Given the description of an element on the screen output the (x, y) to click on. 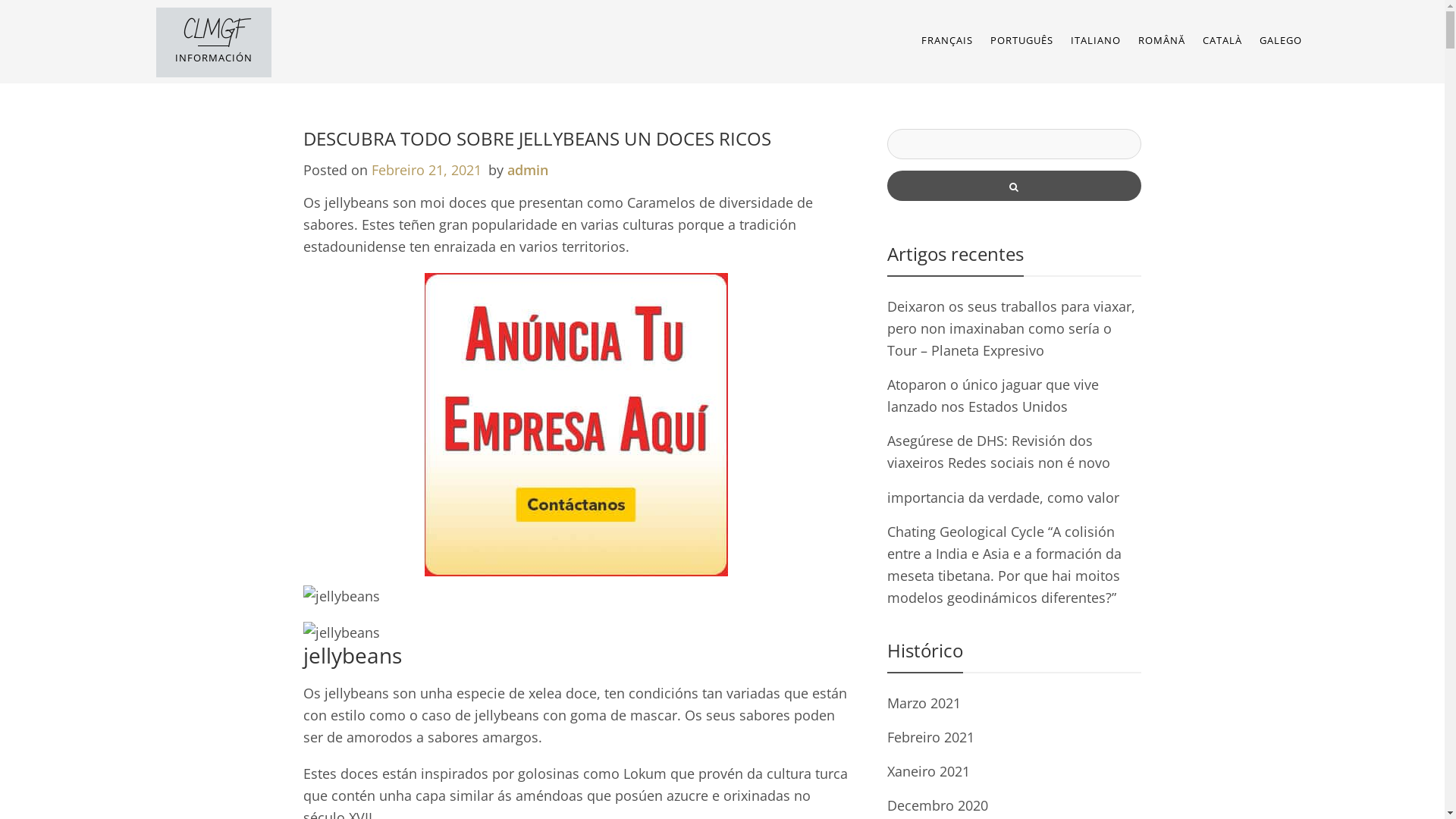
CLMGF Element type: text (213, 30)
Skip to content Element type: text (0, 0)
Xaneiro 2021 Element type: text (928, 771)
Febreiro 21, 2021 Element type: text (426, 169)
GALEGO Element type: text (1280, 40)
ITALIANO Element type: text (1095, 40)
Decembro 2020 Element type: text (937, 805)
Febreiro 2021 Element type: text (930, 737)
importancia da verdade, como valor Element type: text (1003, 497)
admin Element type: text (526, 169)
Marzo 2021 Element type: text (923, 702)
